Given the description of an element on the screen output the (x, y) to click on. 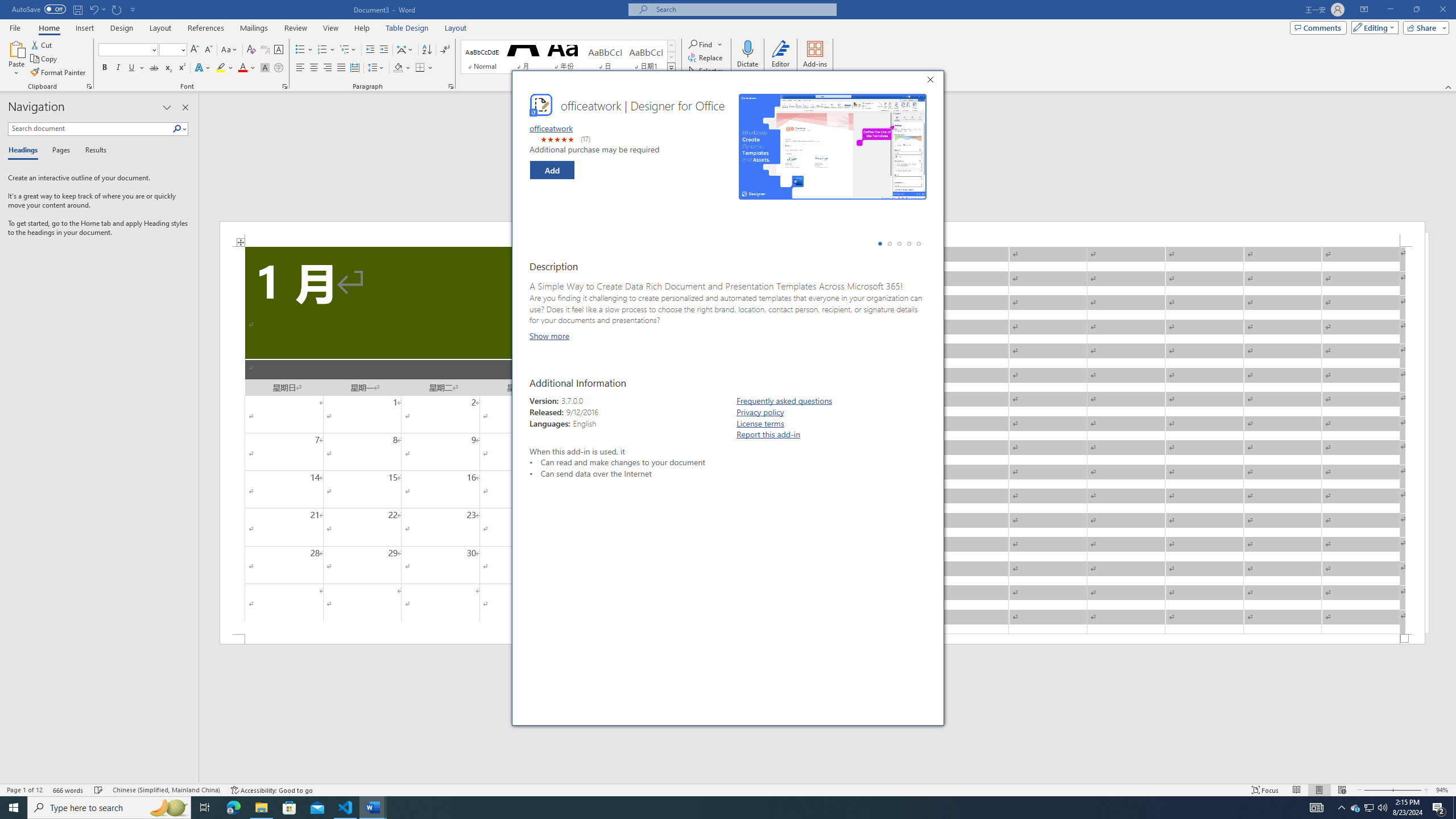
officeatwork (550, 127)
Undo Grow Font (96, 9)
Go to screenshot 5 (918, 243)
Go to screenshot 3 (898, 243)
Check out our documentation. (671, 531)
Go to screenshot 2 (889, 243)
